Given the description of an element on the screen output the (x, y) to click on. 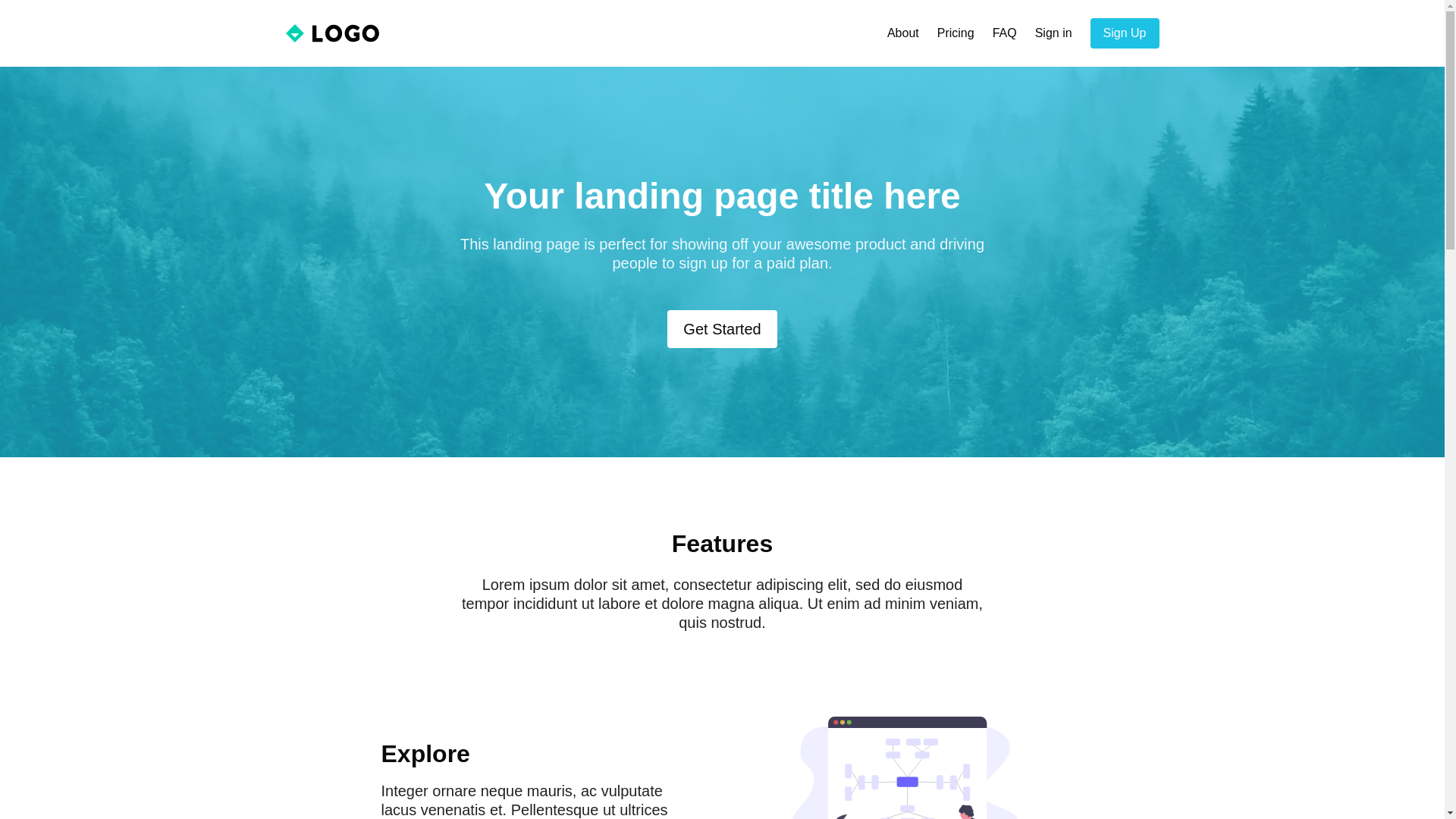
Get Started Element type: text (721, 329)
About Element type: text (903, 33)
FAQ Element type: text (1004, 33)
Sign in Element type: text (1053, 33)
Sign Up Element type: text (1124, 33)
Pricing Element type: text (955, 33)
